Given the description of an element on the screen output the (x, y) to click on. 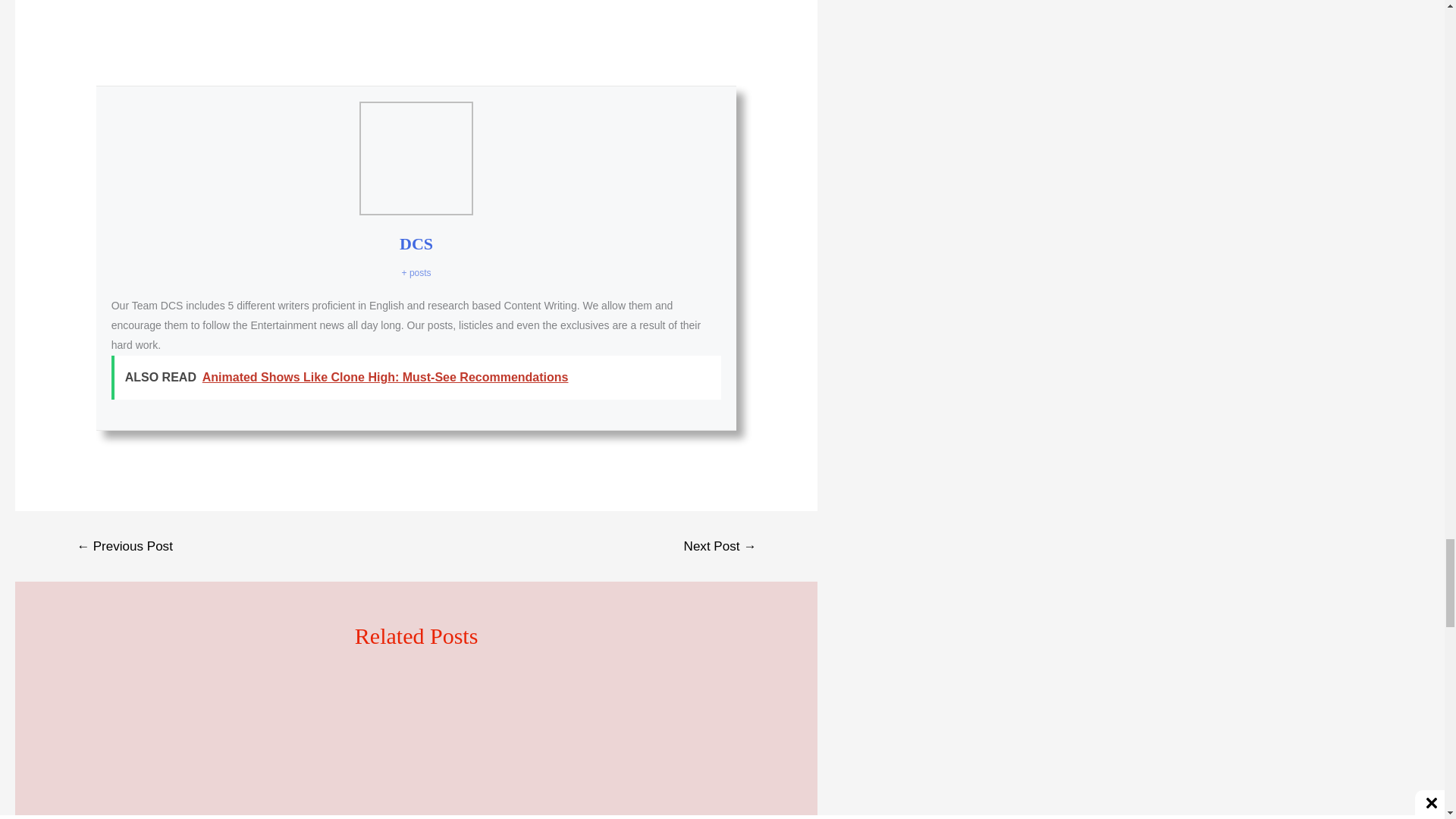
DCS (415, 243)
